Given the description of an element on the screen output the (x, y) to click on. 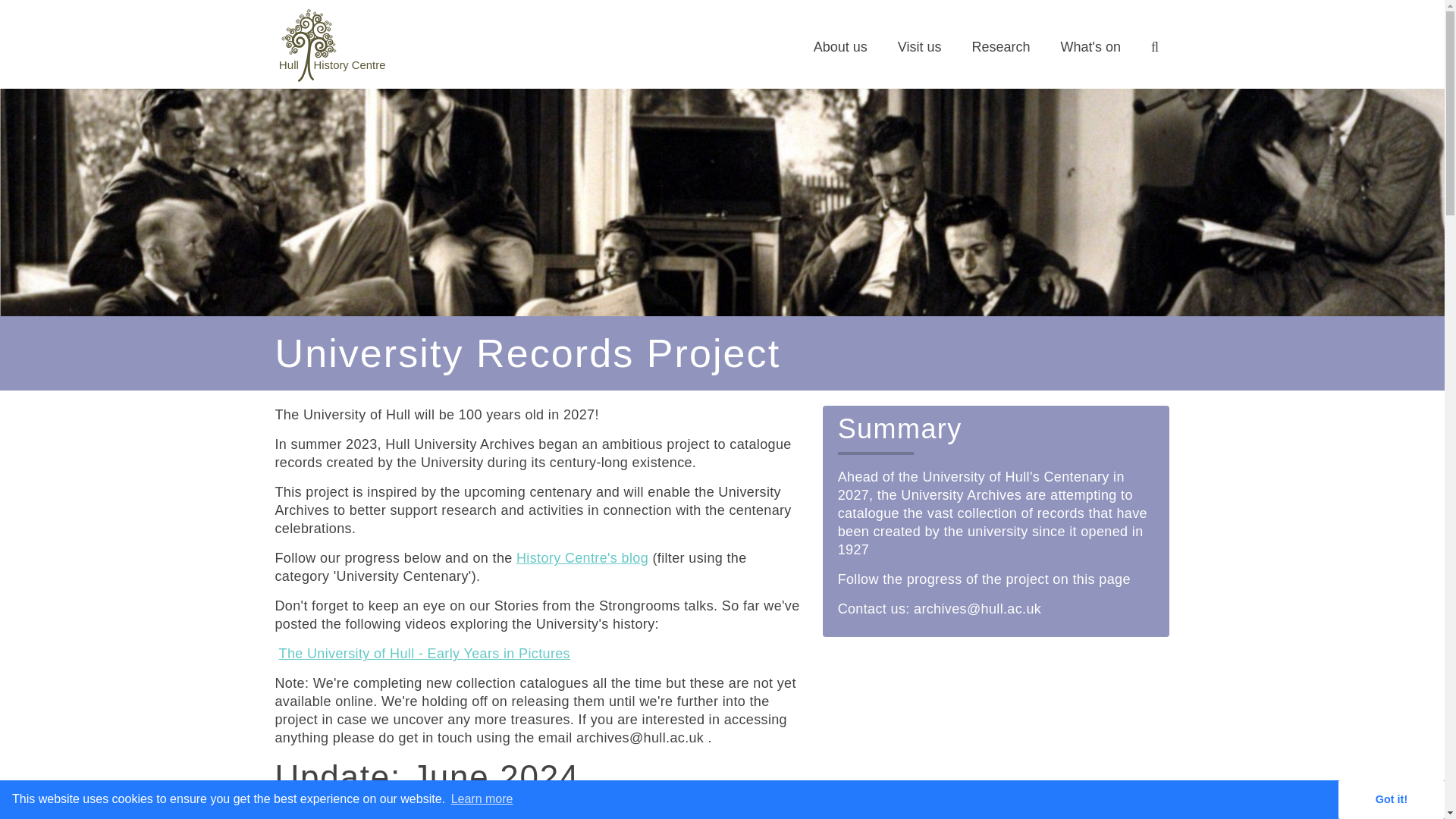
Research (1000, 46)
What's on (1089, 46)
Visit us (920, 46)
About us (840, 46)
Hull History Centre (331, 79)
Learn more (481, 798)
